Given the description of an element on the screen output the (x, y) to click on. 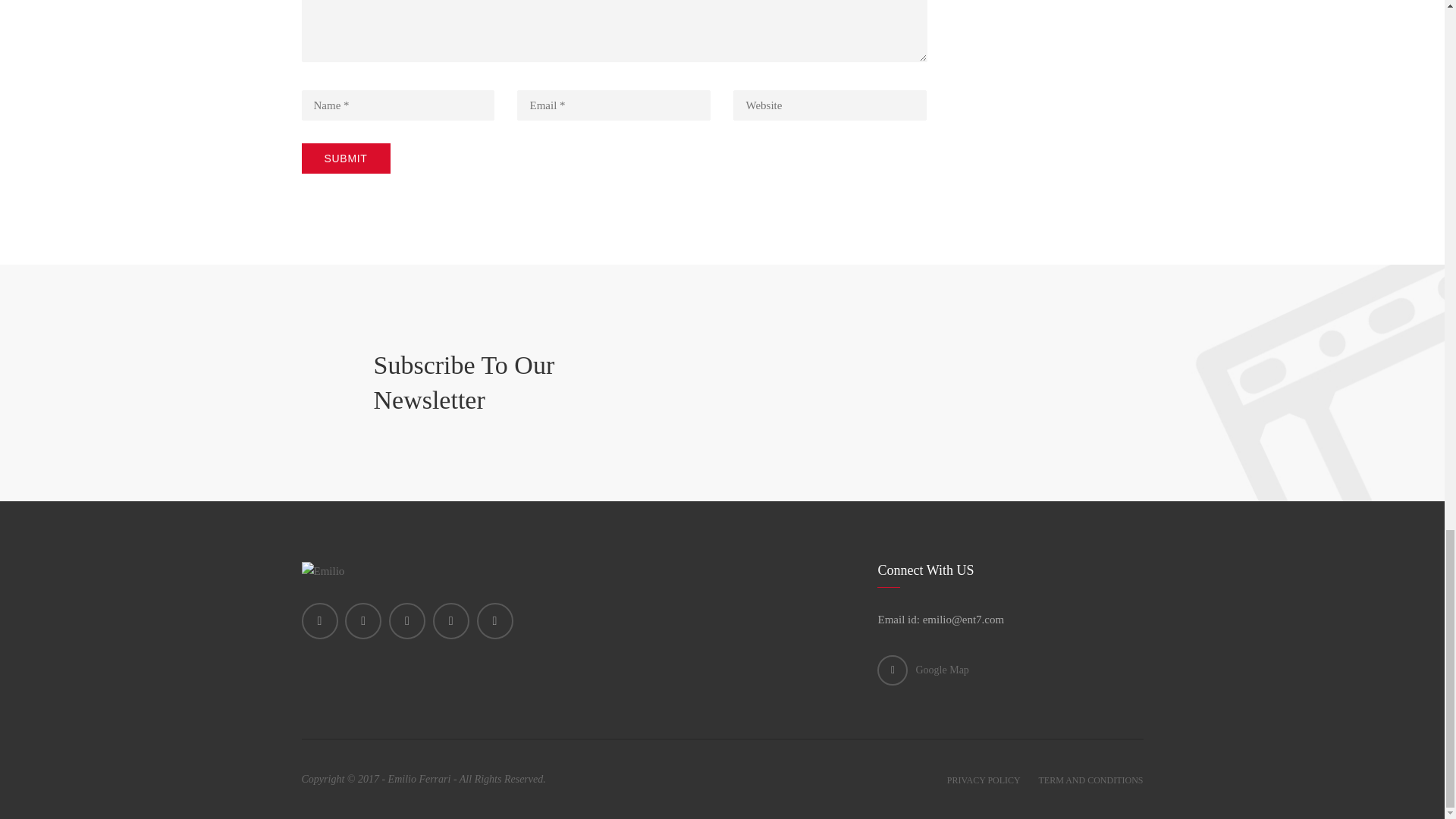
Submit (345, 158)
Submit (345, 158)
